Given the description of an element on the screen output the (x, y) to click on. 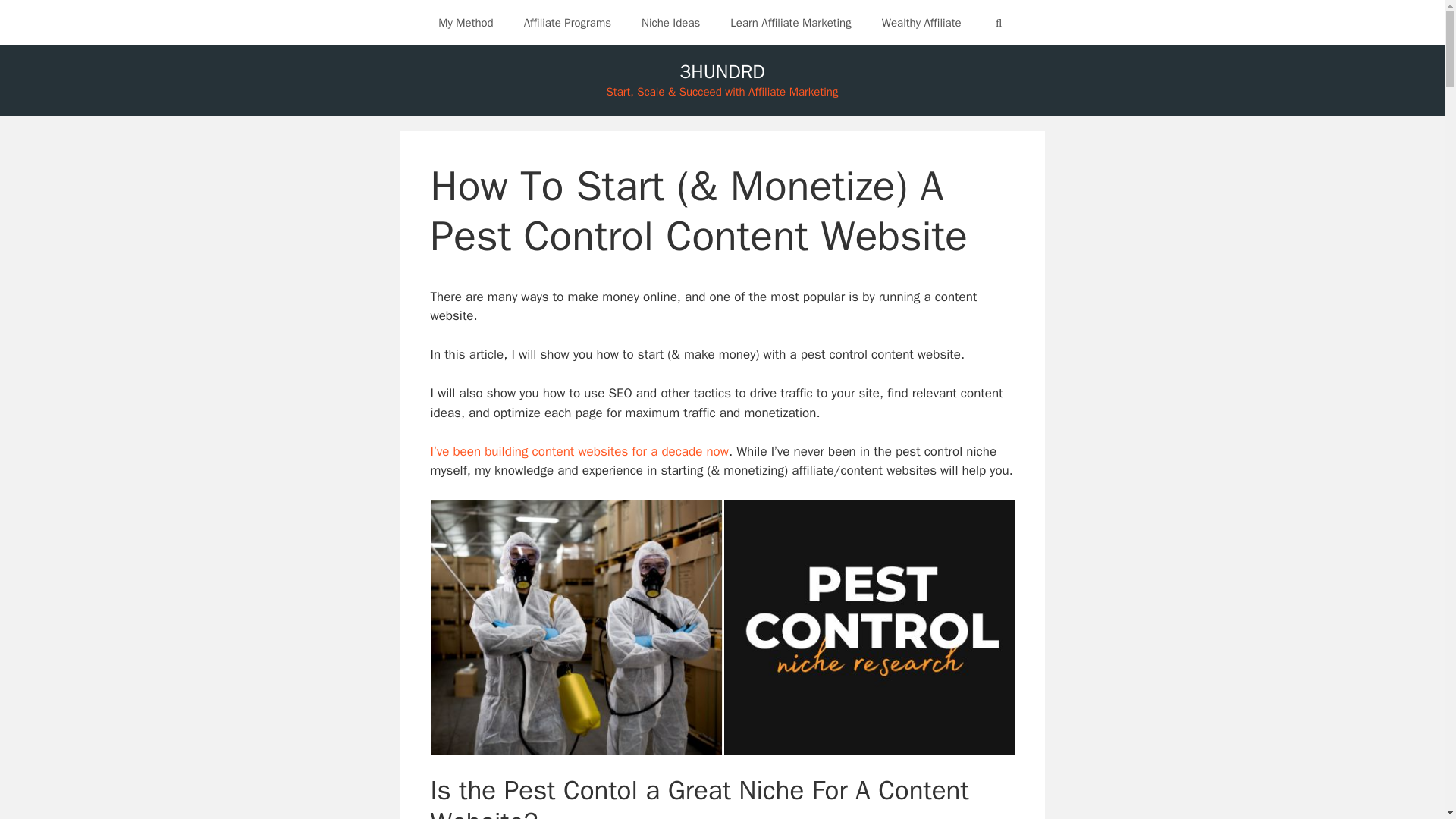
My Method (465, 22)
Niche Ideas (670, 22)
Affiliate Programs (567, 22)
Learn Affiliate Marketing (790, 22)
3HUNDRD (721, 71)
Wealthy Affiliate (921, 22)
